Given the description of an element on the screen output the (x, y) to click on. 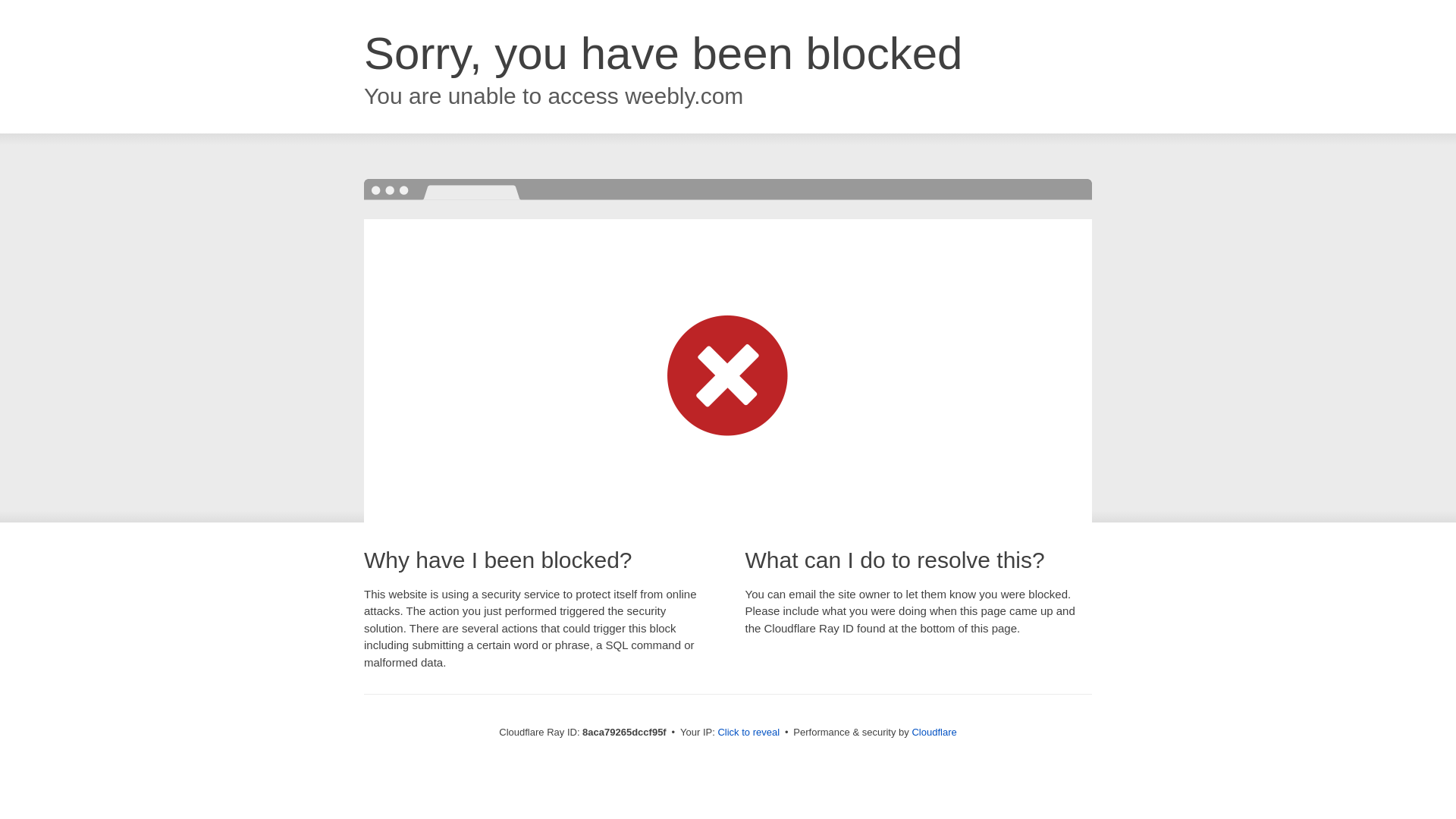
Cloudflare (933, 731)
Click to reveal (747, 732)
